Given the description of an element on the screen output the (x, y) to click on. 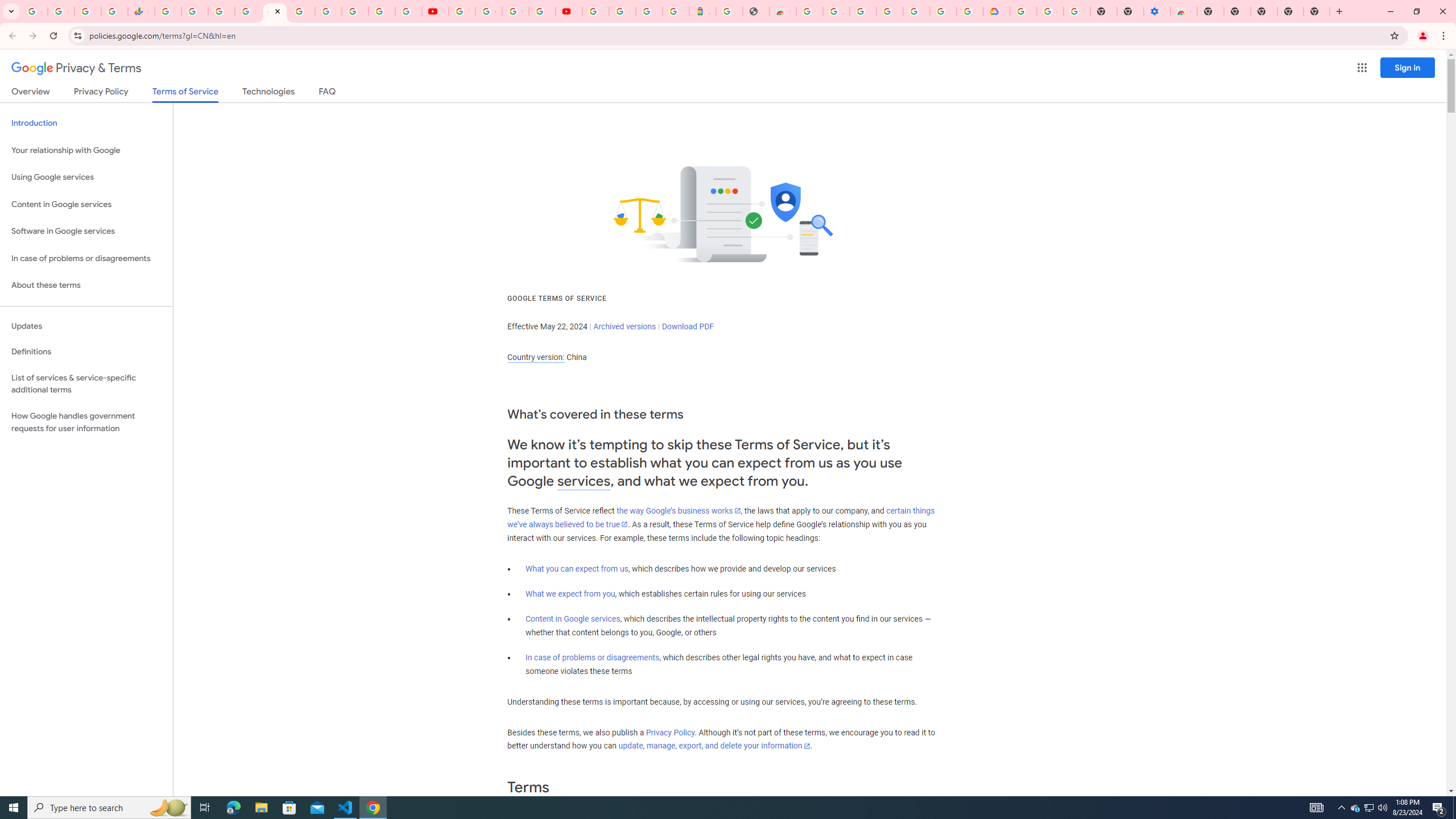
Chrome Web Store - Household (782, 11)
List of services & service-specific additional terms (86, 383)
Sign in - Google Accounts (862, 11)
Turn cookies on or off - Computer - Google Account Help (1076, 11)
What you can expect from us (576, 568)
